Given the description of an element on the screen output the (x, y) to click on. 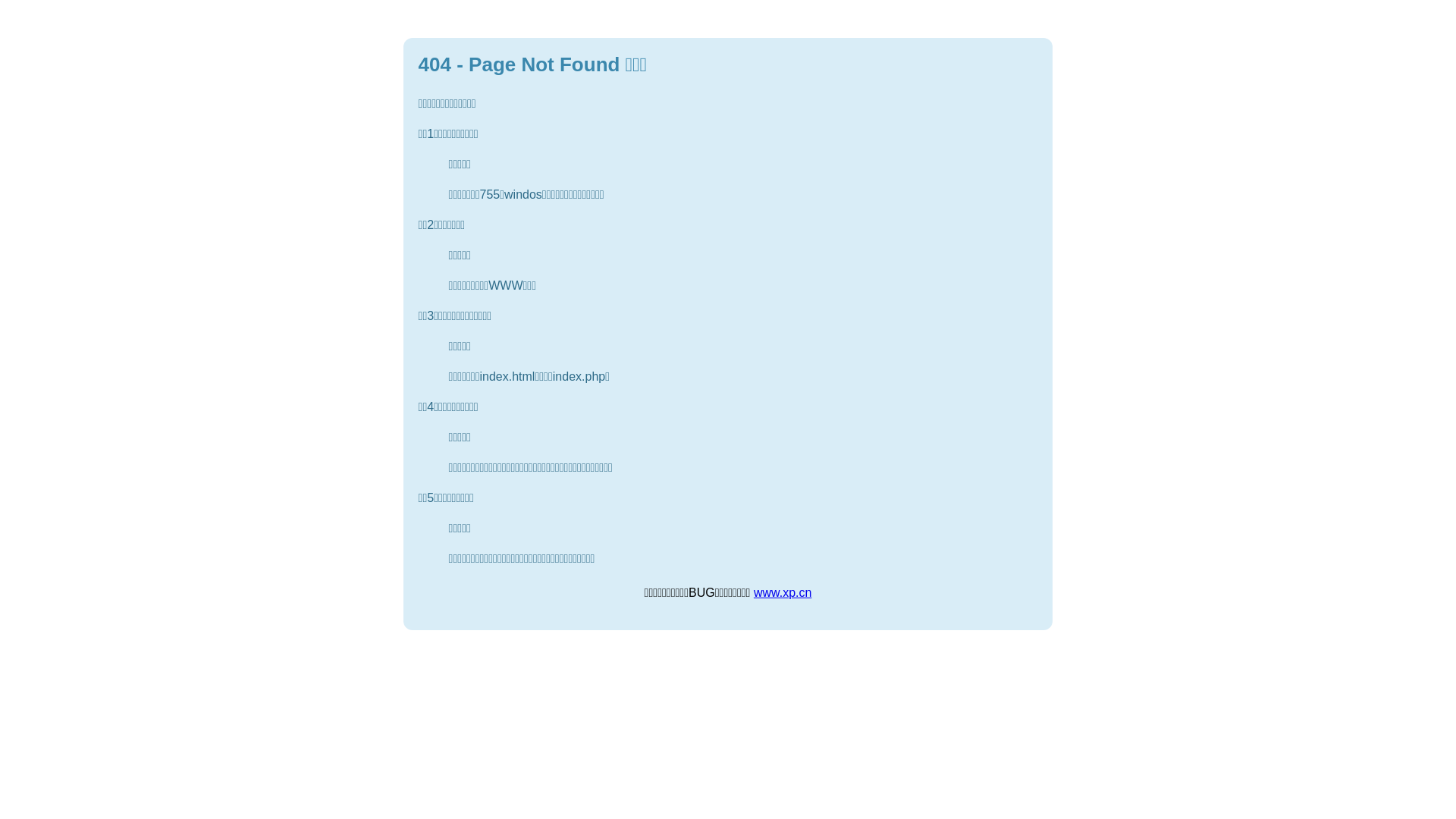
www.xp.cn Element type: text (782, 592)
